Given the description of an element on the screen output the (x, y) to click on. 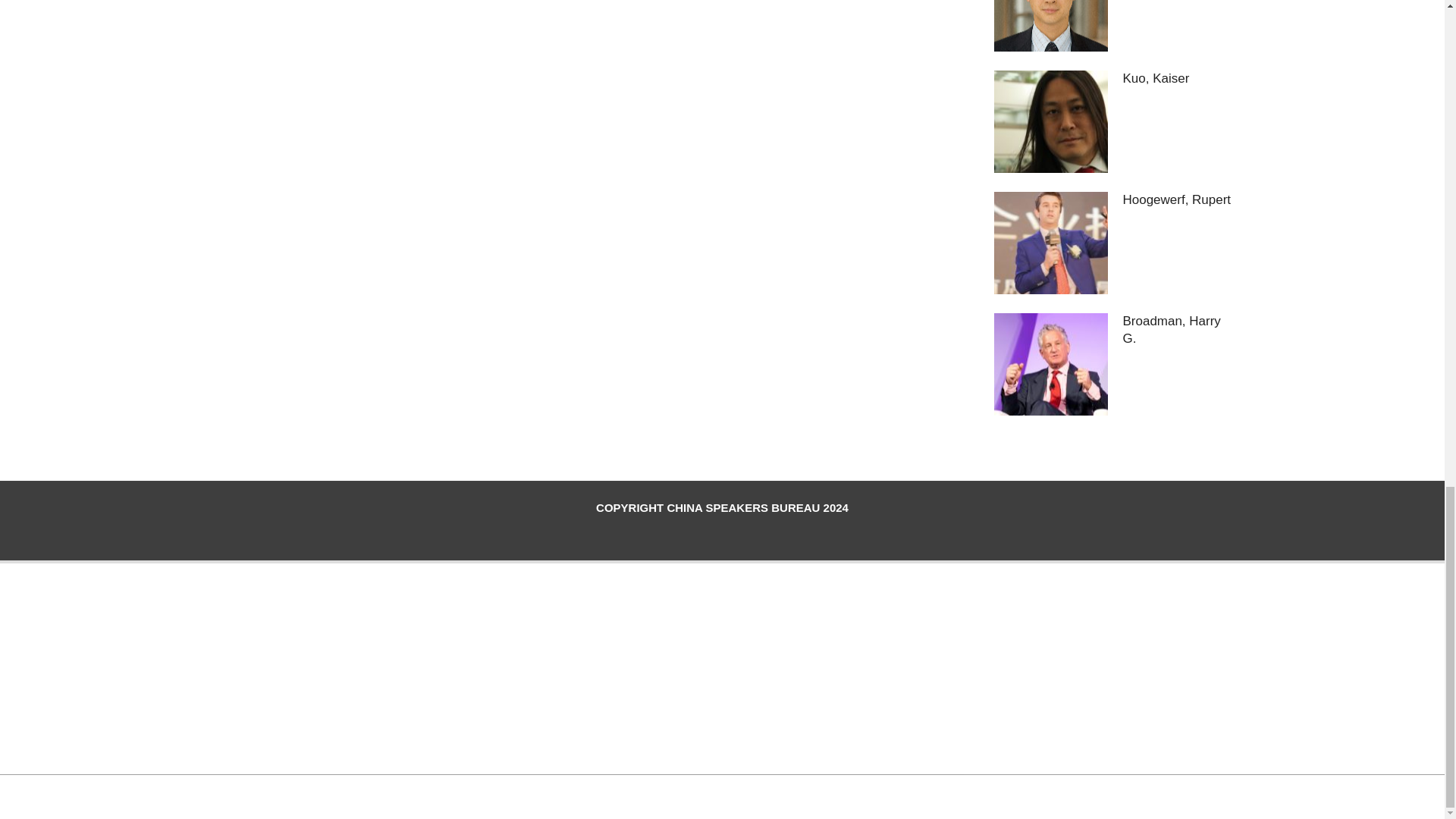
Hoot Du WordPress Theme (704, 794)
